Given the description of an element on the screen output the (x, y) to click on. 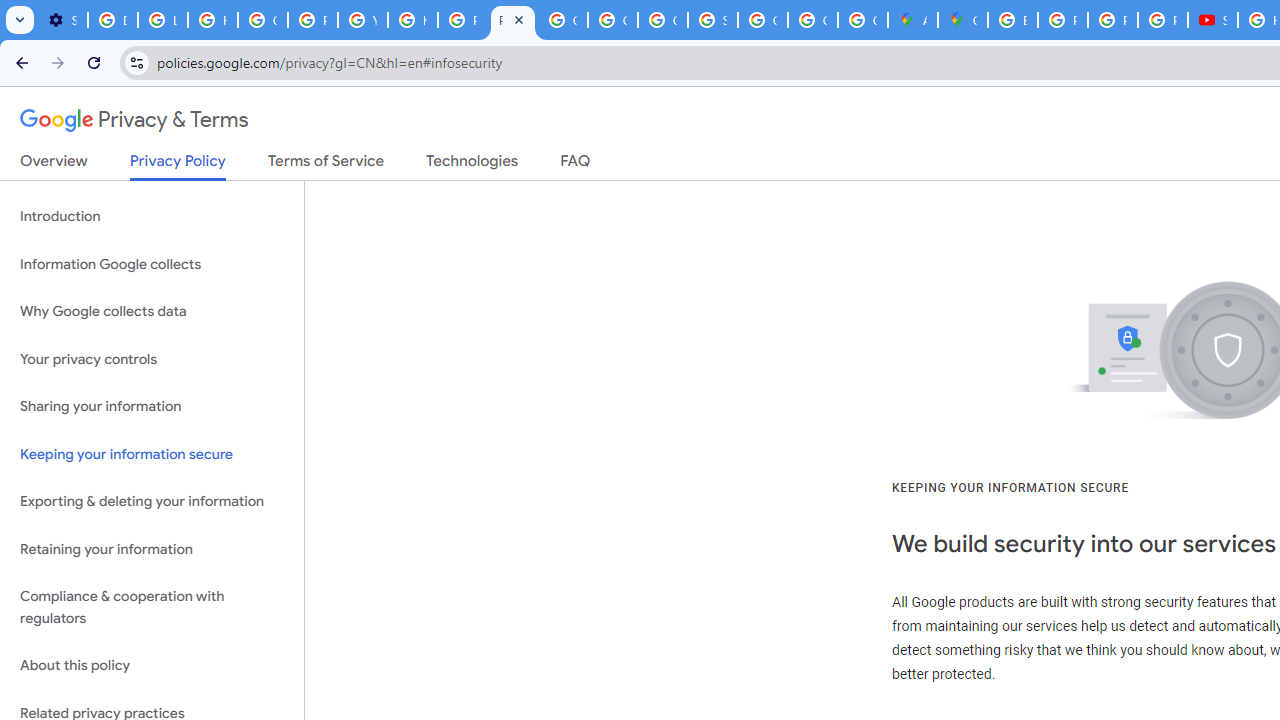
Subscriptions - YouTube (1212, 20)
Compliance & cooperation with regulators (152, 607)
Sign in - Google Accounts (712, 20)
Terms of Service (326, 165)
Privacy Policy (177, 166)
Privacy Help Center - Policies Help (462, 20)
Keeping your information secure (152, 453)
Overview (54, 165)
Privacy & Terms (134, 120)
Privacy Help Center - Policies Help (1062, 20)
FAQ (575, 165)
